Given the description of an element on the screen output the (x, y) to click on. 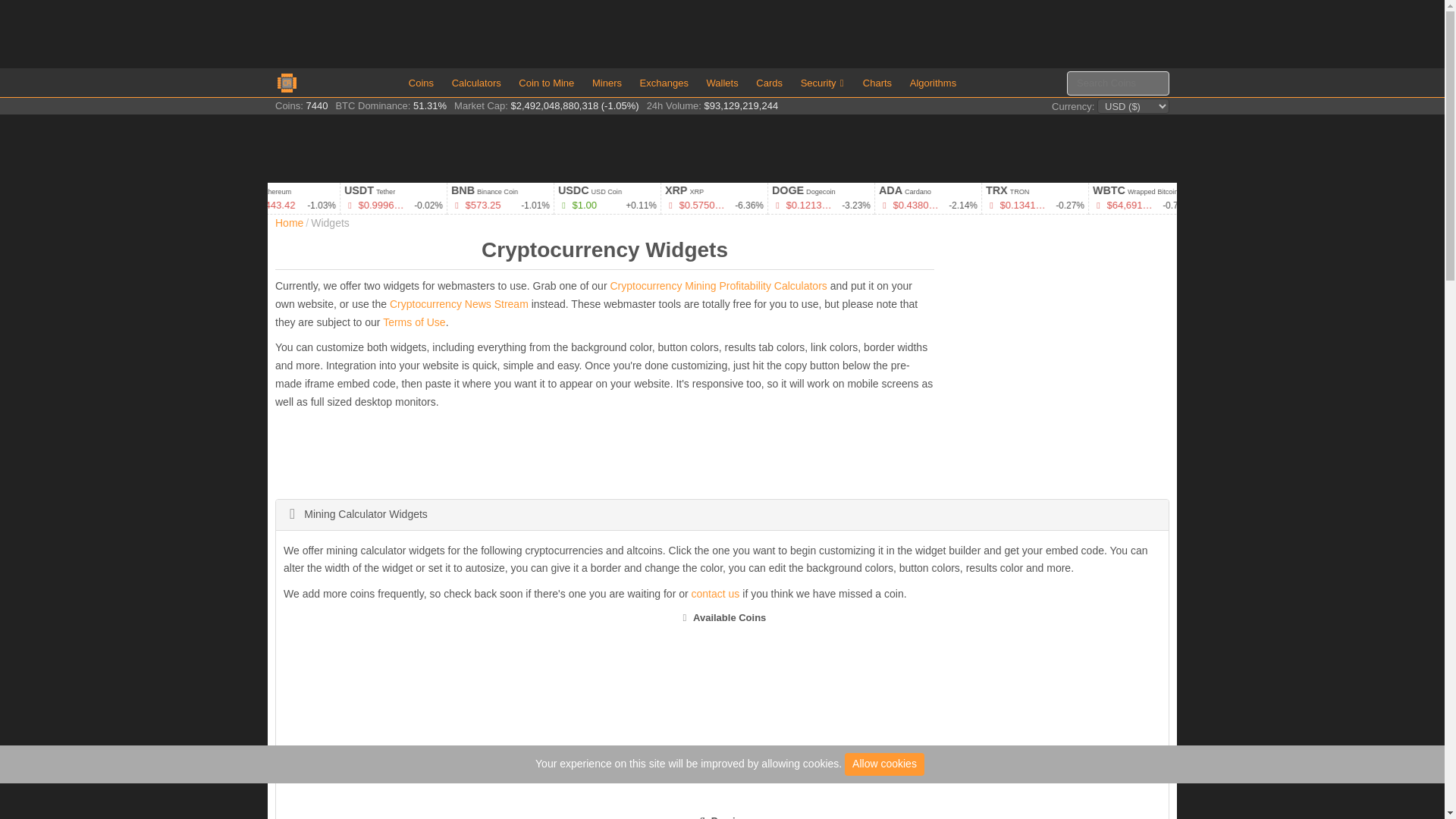
Cryptocurrency Debit Cards (769, 82)
Cryptocurrency News Stream (459, 304)
Charts (877, 82)
Cryptocurrency Charts (877, 82)
Which Coin To Mine Calculator (545, 82)
Cryptocurrency Wallets (721, 82)
Security (823, 82)
Coins (421, 82)
CryptoRival.com (287, 81)
Cryptocurrency Profitability Mining Calculators (476, 82)
Algorithms (932, 82)
Widgets: Terms of Use (413, 322)
Miners (606, 82)
Home (288, 223)
Cryptocurrency News Stream (459, 304)
